Given the description of an element on the screen output the (x, y) to click on. 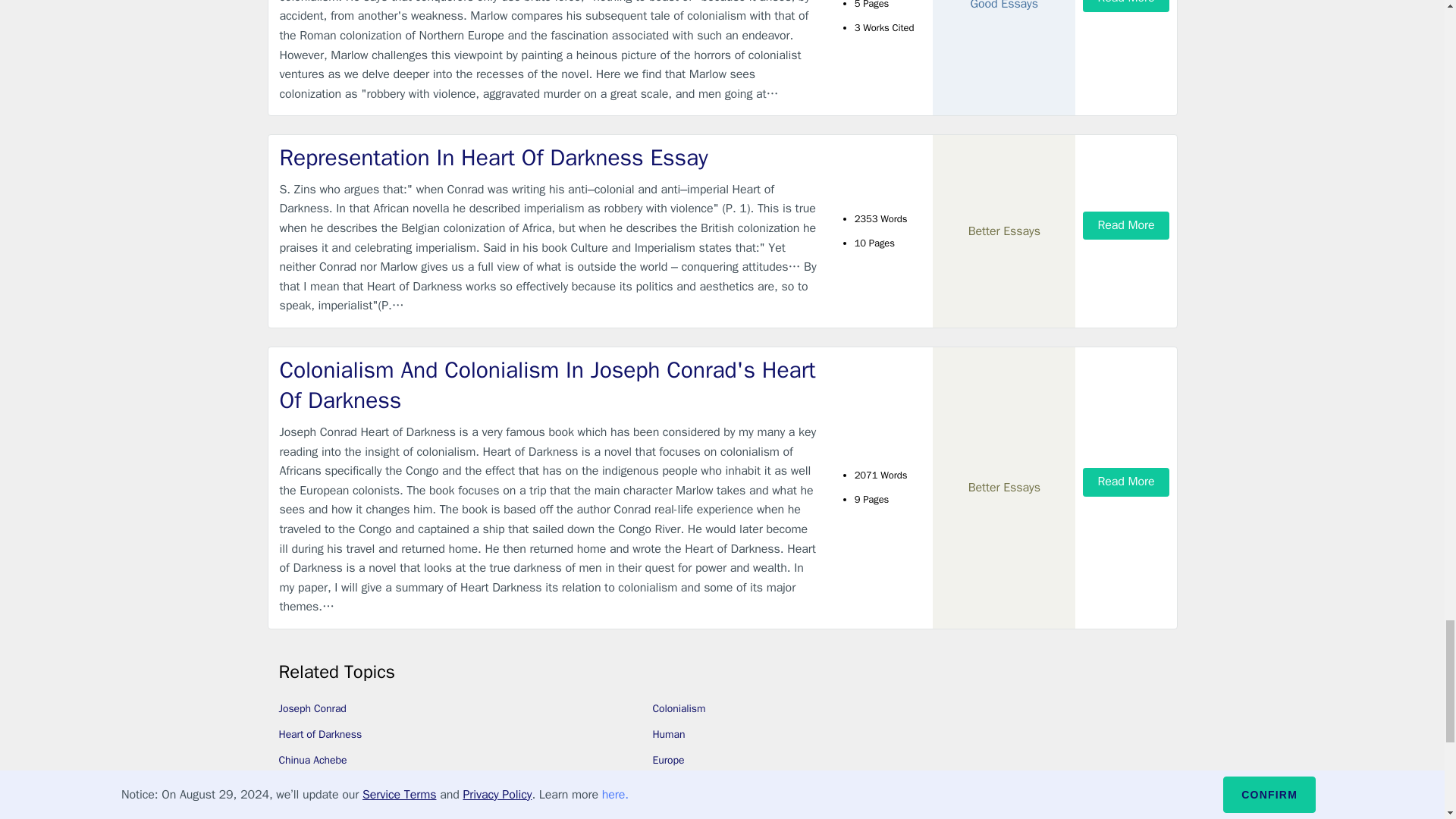
Human (668, 734)
Heart of Darkness (320, 734)
Joseph Conrad (312, 707)
Colonialism (678, 707)
Chinua Achebe (313, 759)
Europe (668, 759)
